Given the description of an element on the screen output the (x, y) to click on. 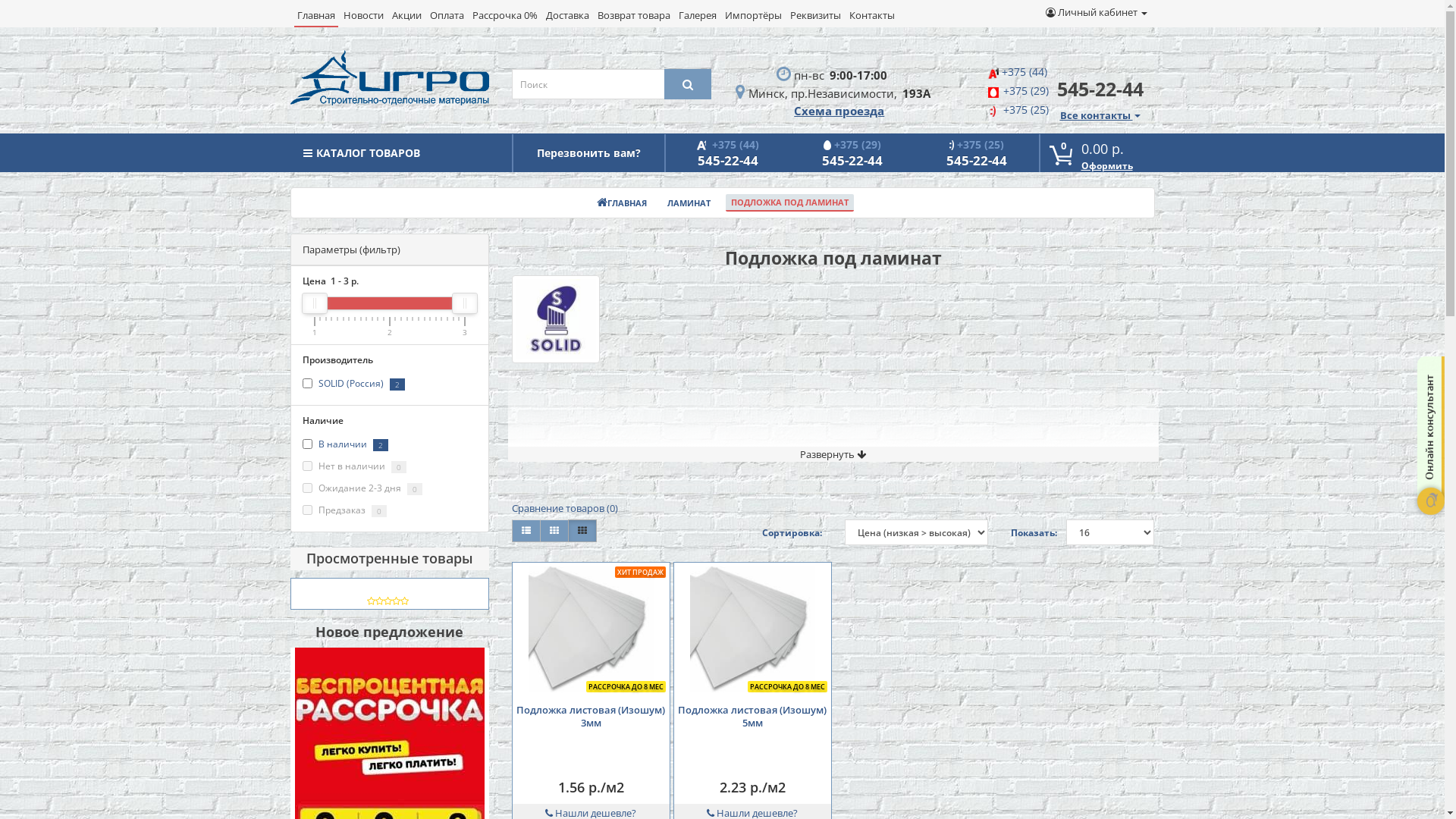
+375 (25)
545-22-44 Element type: text (976, 153)
+375 (44) Element type: text (1023, 71)
+375 (25) Element type: text (1025, 109)
+375 (44)
545-22-44 Element type: text (727, 153)
+375 (29)
545-22-44 Element type: text (852, 153)
+375 (29) Element type: text (1025, 90)
